Given the description of an element on the screen output the (x, y) to click on. 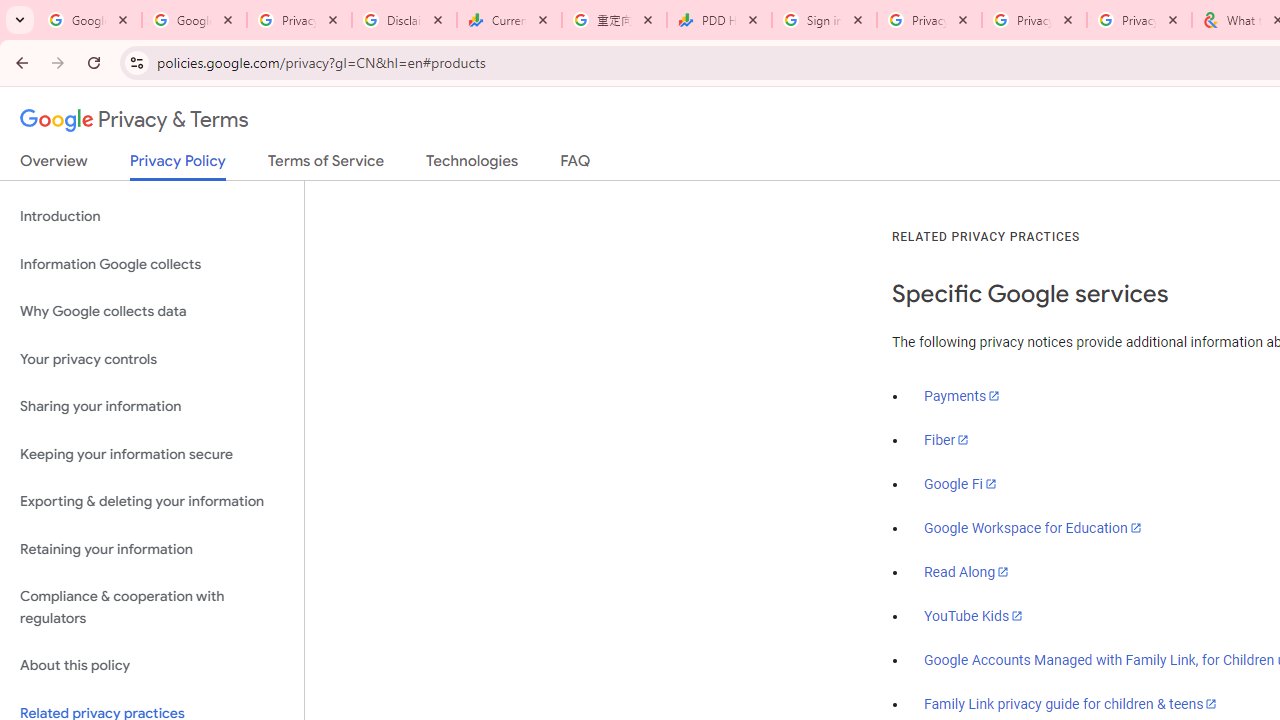
Your privacy controls (152, 358)
Google Fi (960, 484)
Sharing your information (152, 407)
Exporting & deleting your information (152, 502)
PDD Holdings Inc - ADR (PDD) Price & News - Google Finance (718, 20)
Payments (962, 395)
About this policy (152, 666)
